Given the description of an element on the screen output the (x, y) to click on. 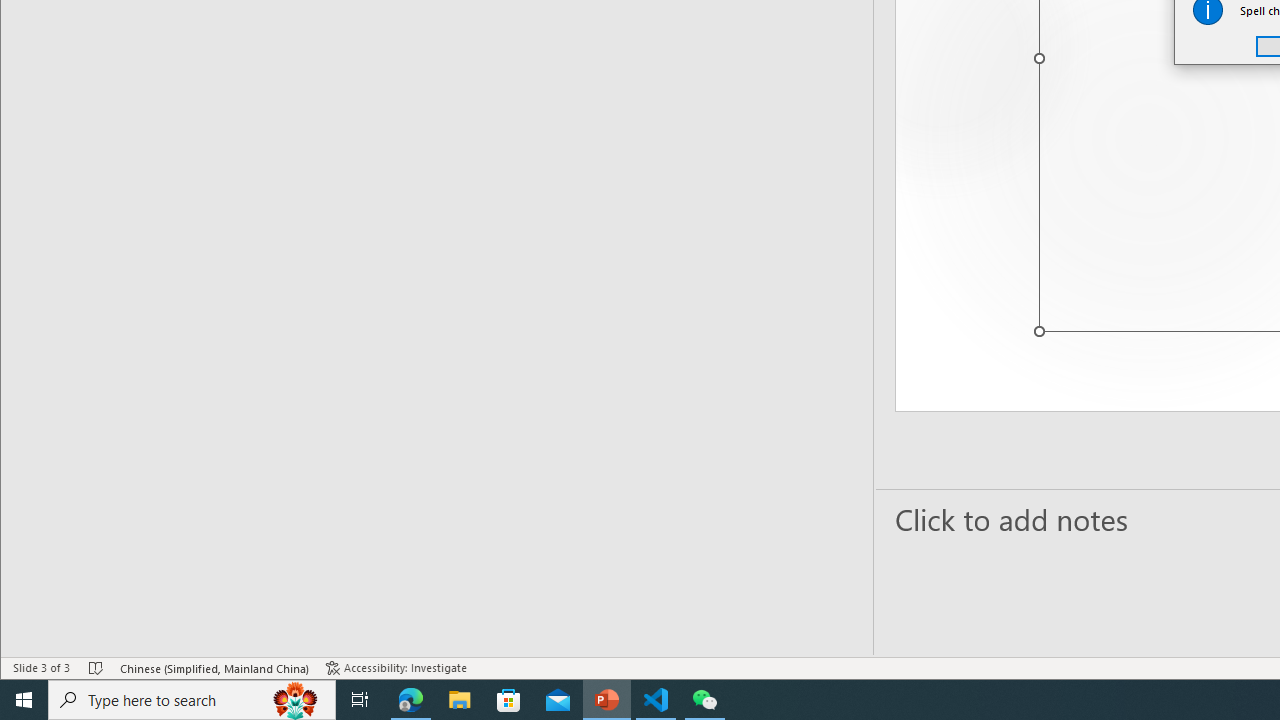
WeChat - 1 running window (704, 699)
